Given the description of an element on the screen output the (x, y) to click on. 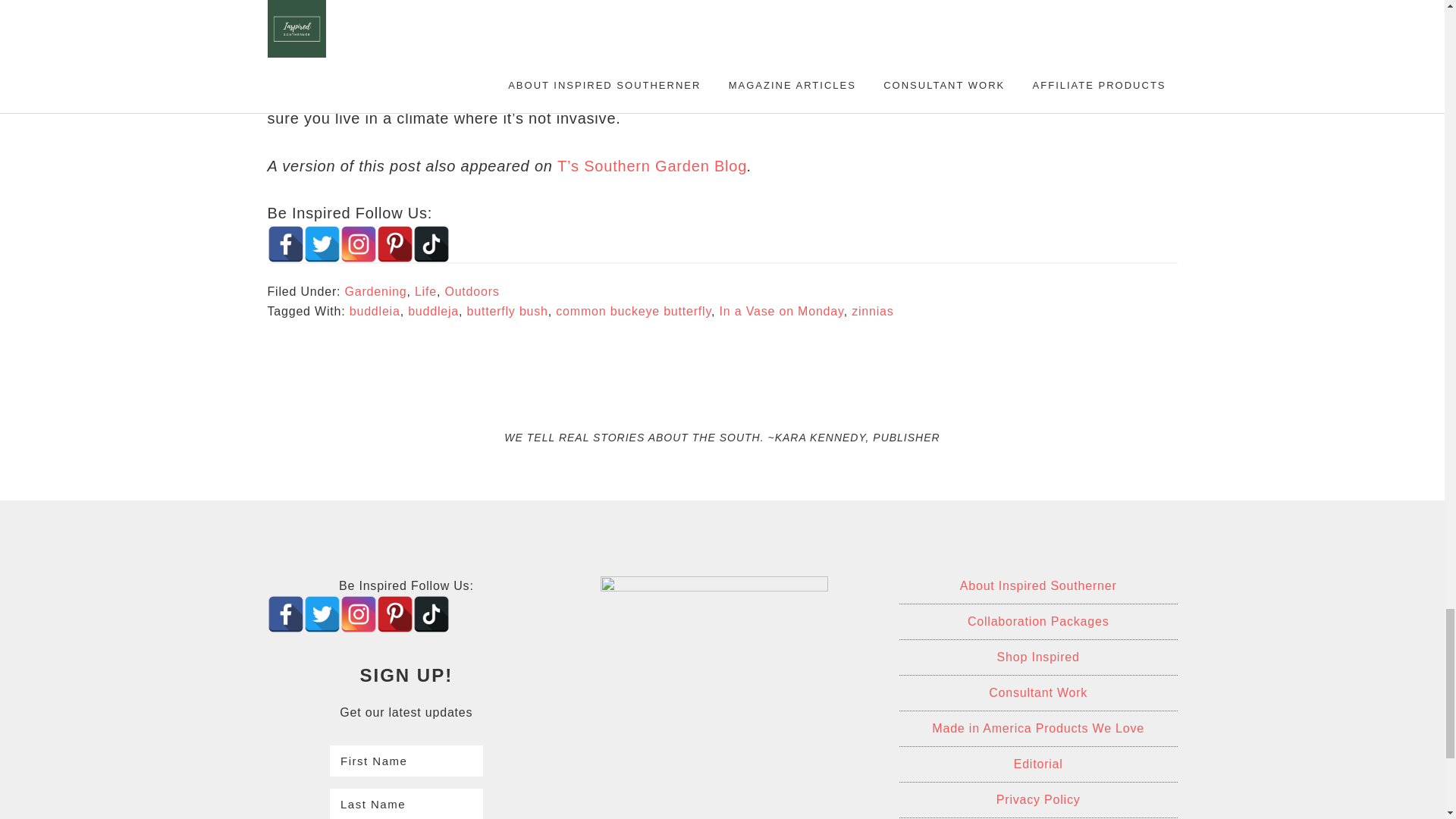
Instagram (357, 614)
Gardening (374, 291)
Outdoors (471, 291)
Facebook (284, 244)
Consultant Work (1037, 691)
Editorial (1037, 762)
Collaboration Packages (1038, 620)
TikTok (430, 614)
TikTok (430, 244)
Privacy Policy (1037, 799)
